Given the description of an element on the screen output the (x, y) to click on. 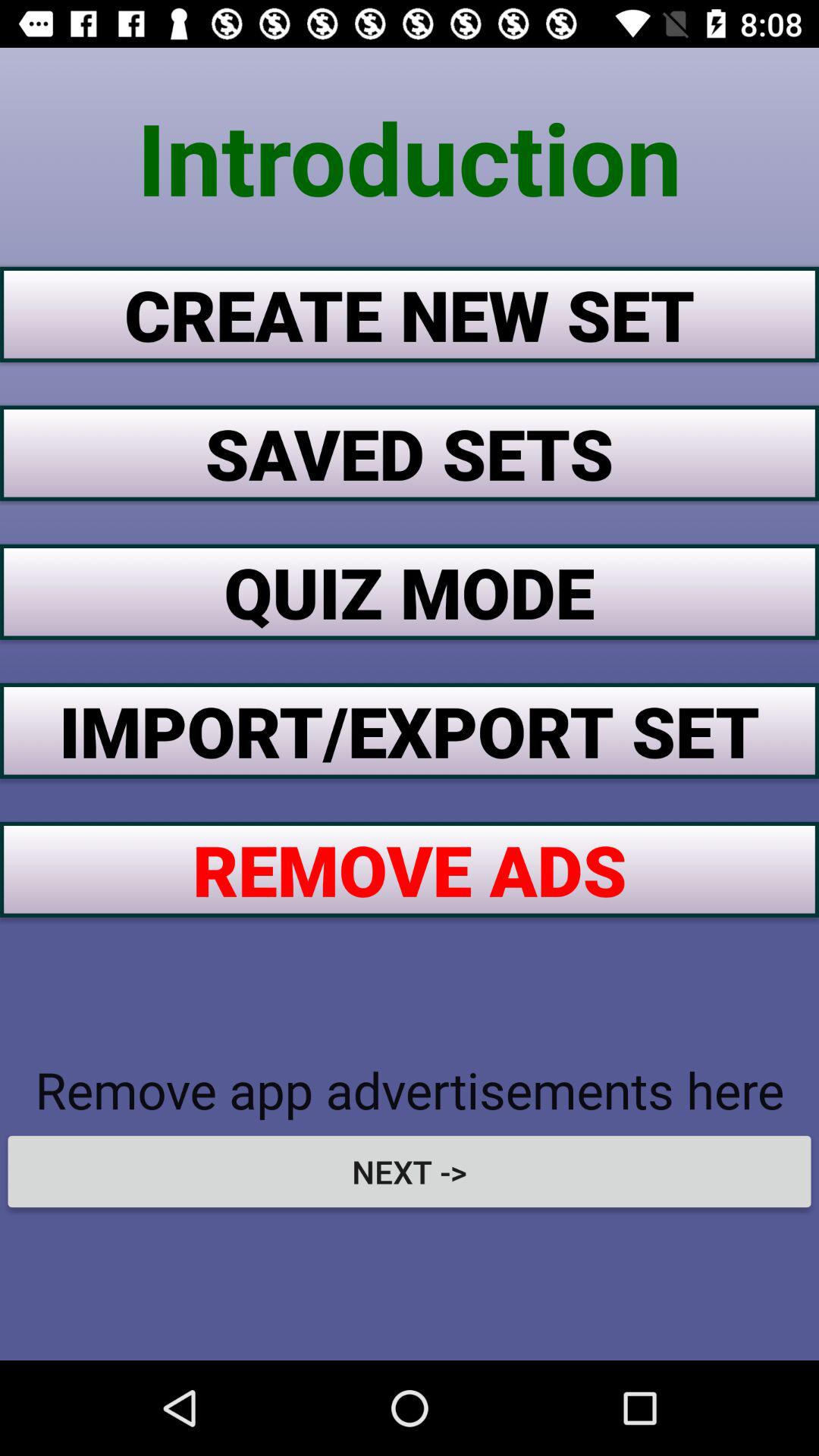
swipe until remove ads icon (409, 869)
